Given the description of an element on the screen output the (x, y) to click on. 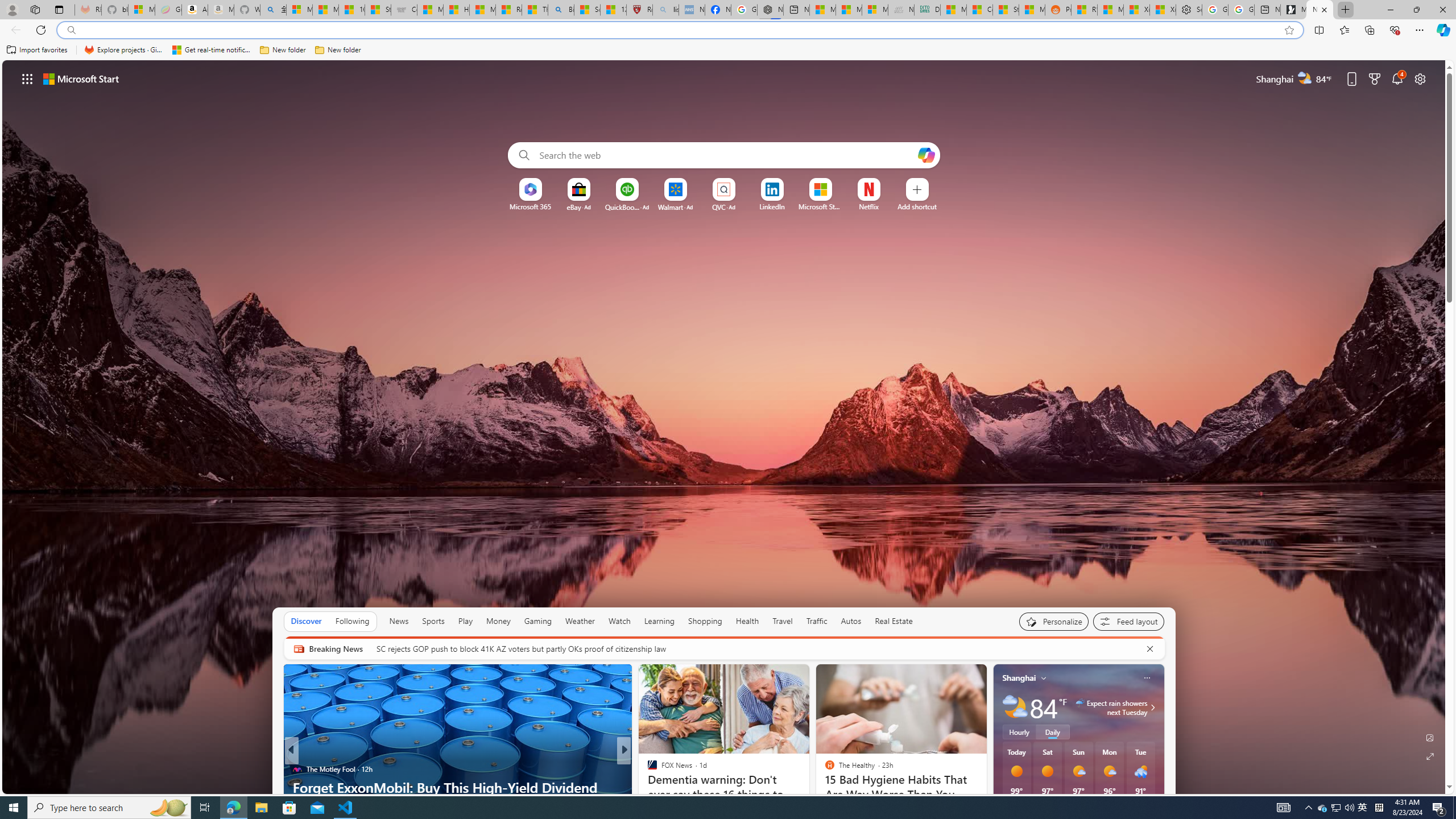
Class: weather-arrow-glyph (1152, 707)
CNBC (647, 768)
